Given the description of an element on the screen output the (x, y) to click on. 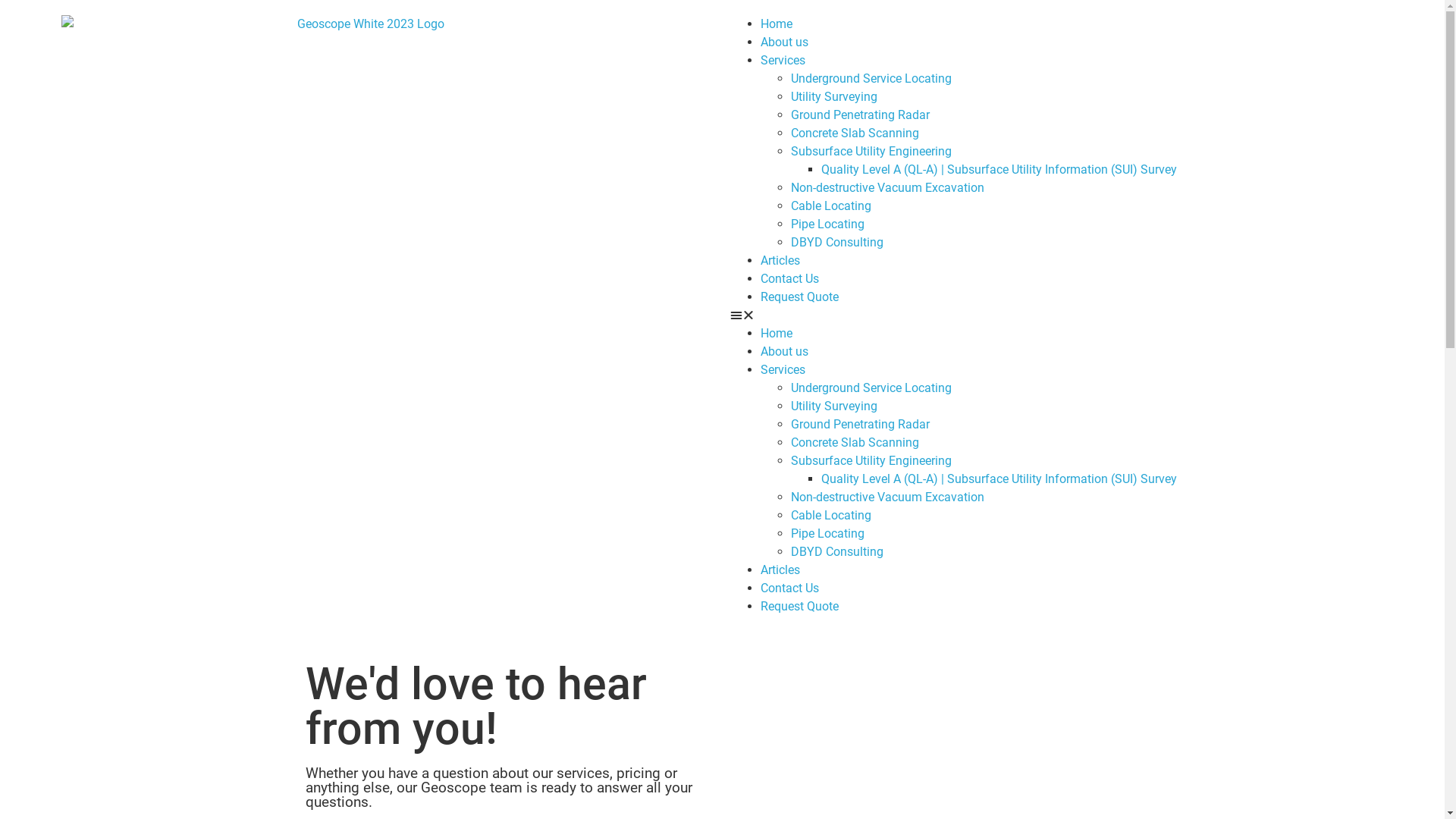
DBYD Consulting Element type: text (836, 551)
Concrete Slab Scanning Element type: text (854, 442)
Contact Us Element type: text (788, 587)
Pipe Locating Element type: text (826, 223)
Articles Element type: text (779, 260)
DBYD Consulting Element type: text (836, 242)
Services Element type: text (781, 369)
Home Element type: text (775, 23)
Utility Surveying Element type: text (833, 405)
Pipe Locating Element type: text (826, 533)
Utility Surveying Element type: text (833, 96)
Concrete Slab Scanning Element type: text (854, 132)
Cable Locating Element type: text (830, 515)
Cable Locating Element type: text (830, 205)
About us Element type: text (783, 351)
Request Quote Element type: text (798, 606)
About us Element type: text (783, 41)
Contact Us Element type: text (788, 278)
Services Element type: text (781, 60)
Subsurface Utility Engineering Element type: text (870, 460)
Request Quote Element type: text (798, 296)
Underground Service Locating Element type: text (870, 387)
Articles Element type: text (779, 569)
Non-destructive Vacuum Excavation Element type: text (886, 496)
Subsurface Utility Engineering Element type: text (870, 151)
Underground Service Locating Element type: text (870, 78)
Ground Penetrating Radar Element type: text (859, 114)
Ground Penetrating Radar Element type: text (859, 424)
Home Element type: text (775, 333)
Non-destructive Vacuum Excavation Element type: text (886, 187)
